Given the description of an element on the screen output the (x, y) to click on. 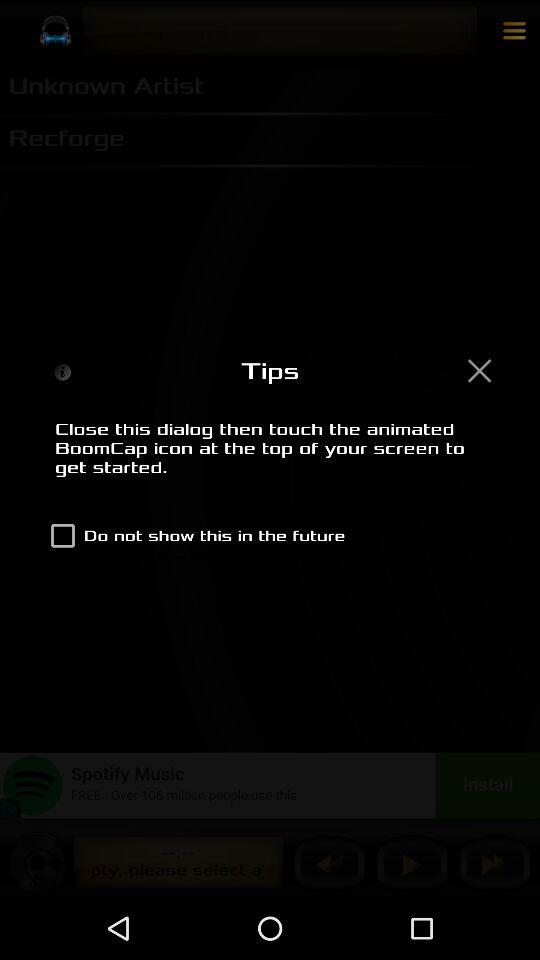
press item above the do not show item (269, 459)
